Given the description of an element on the screen output the (x, y) to click on. 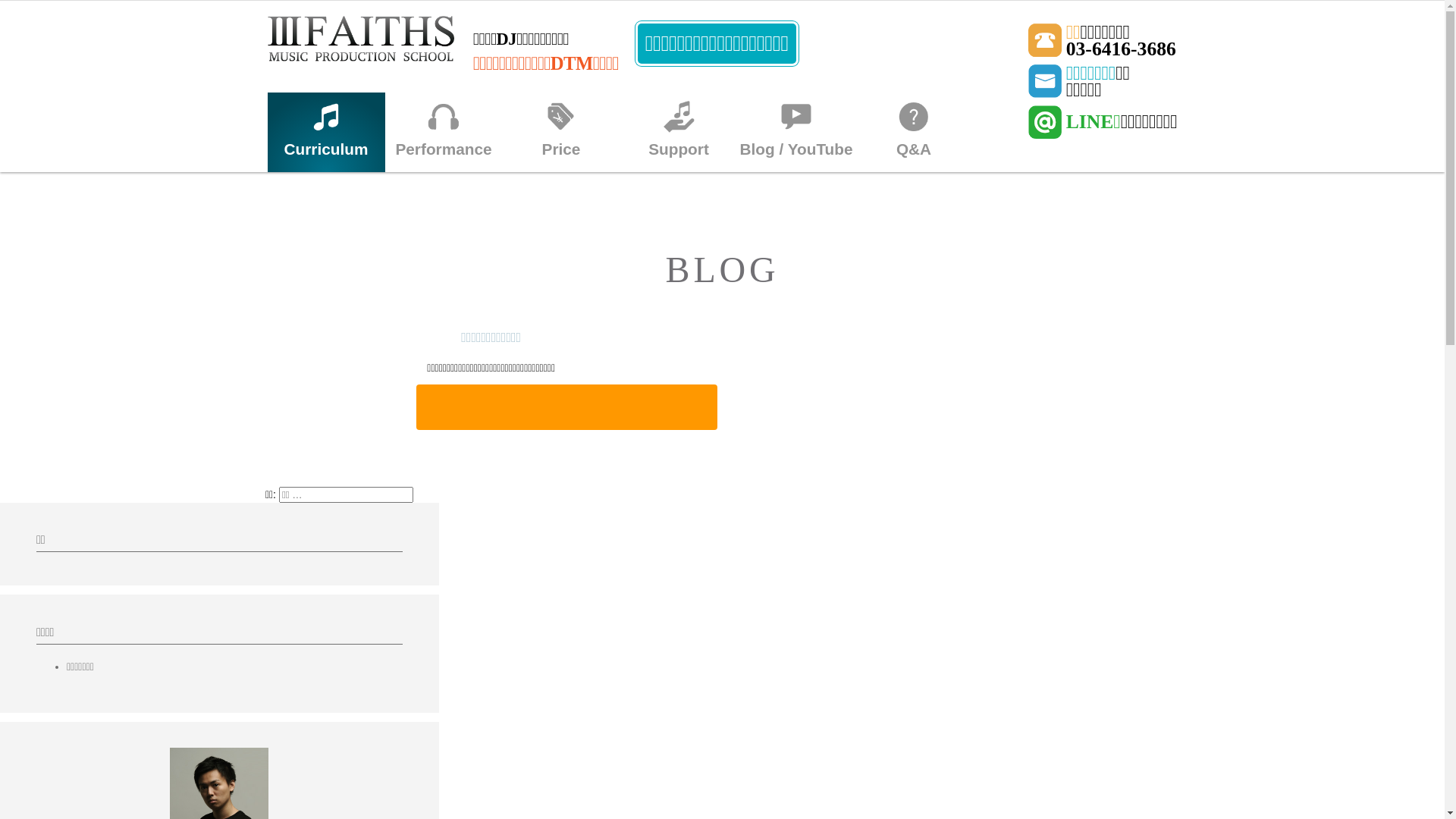
Price Element type: text (560, 132)
Blog / YouTube Element type: text (795, 132)
Curriculum Element type: text (325, 132)
Q&A Element type: text (913, 132)
Performance Element type: text (443, 132)
Support Element type: text (678, 132)
